Given the description of an element on the screen output the (x, y) to click on. 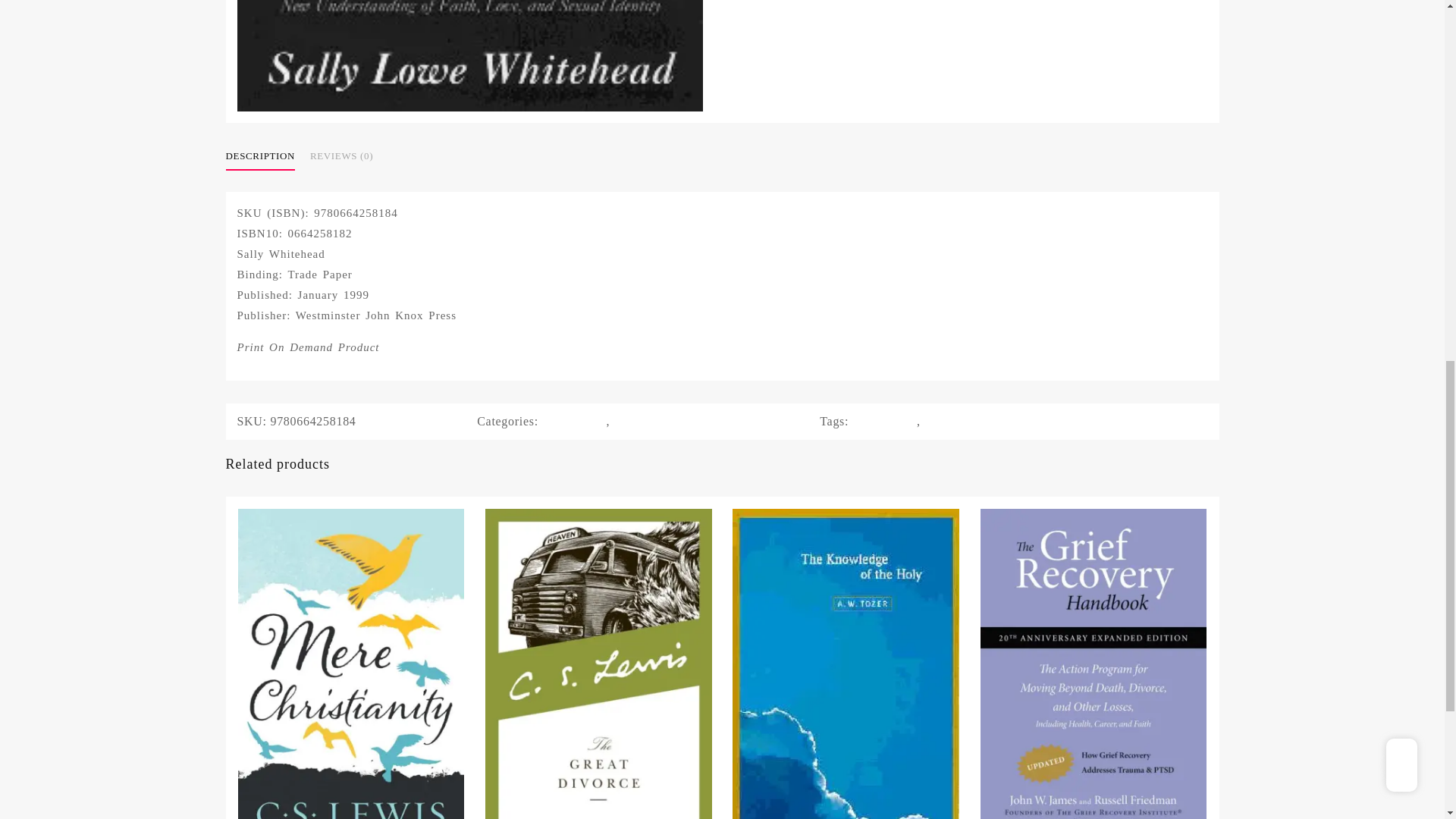
9780664258184 Truth Shall Set You Free (468, 55)
